Given the description of an element on the screen output the (x, y) to click on. 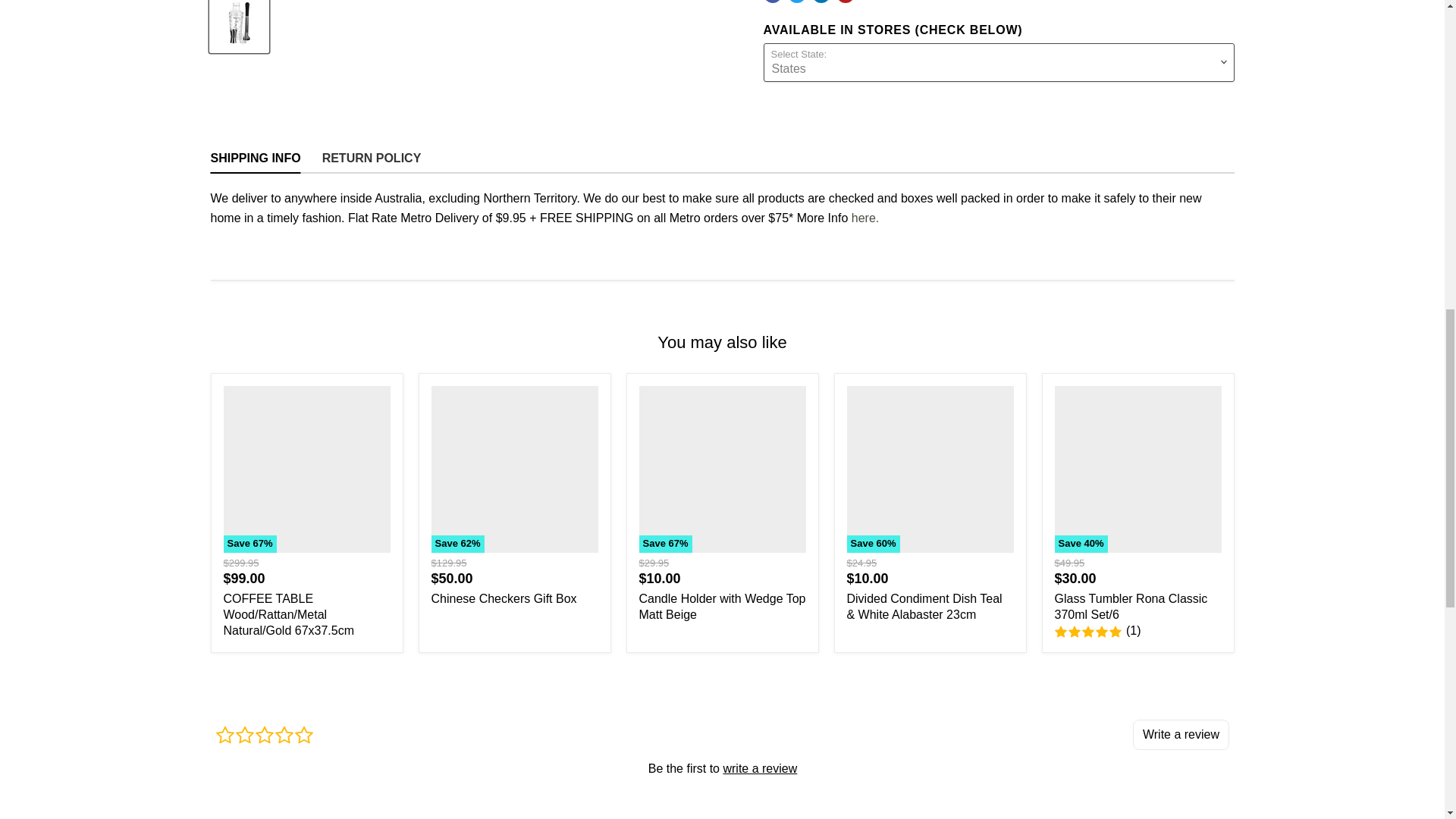
Product reviews widget (722, 761)
